Given the description of an element on the screen output the (x, y) to click on. 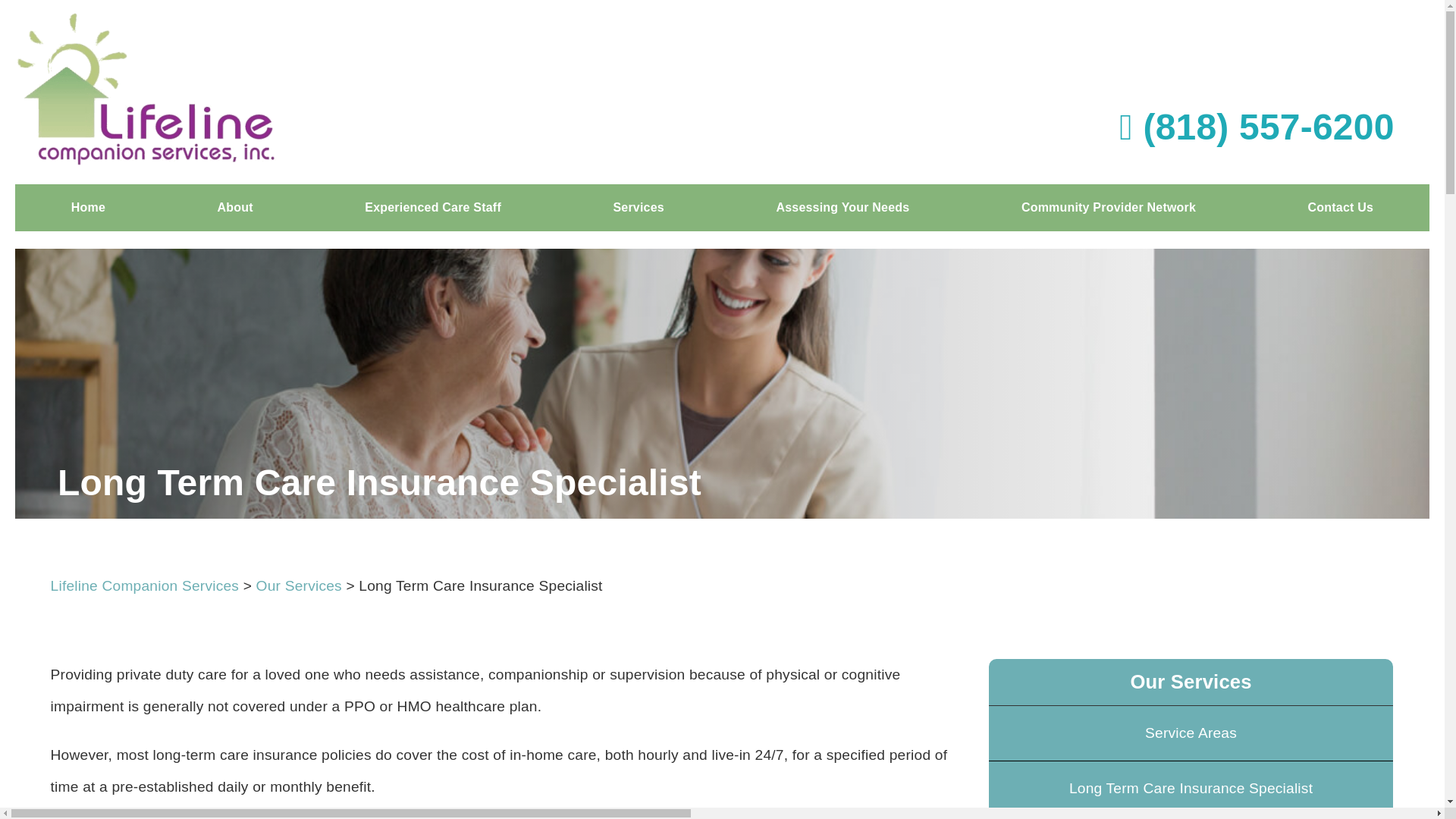
Experienced Care Staff (432, 207)
Lifeline Companion Services (145, 585)
Services (638, 207)
About (234, 207)
Go to Our Services. (299, 585)
Go to Lifeline Companion Services. (145, 585)
Home (87, 207)
Community Provider Network (1108, 207)
Contact Us (1340, 207)
Assessing Your Needs (842, 207)
